Given the description of an element on the screen output the (x, y) to click on. 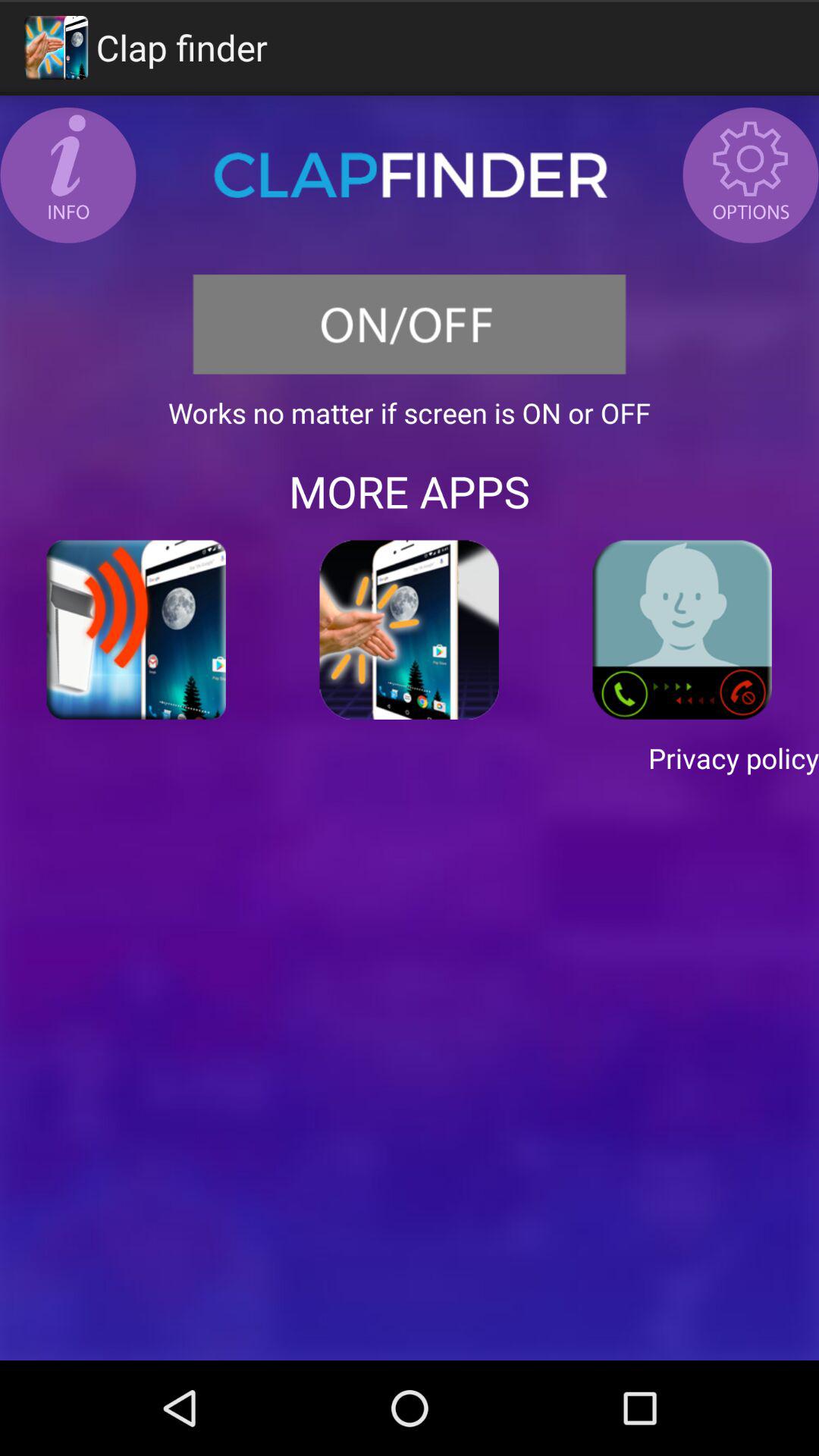
get information (68, 174)
